Given the description of an element on the screen output the (x, y) to click on. 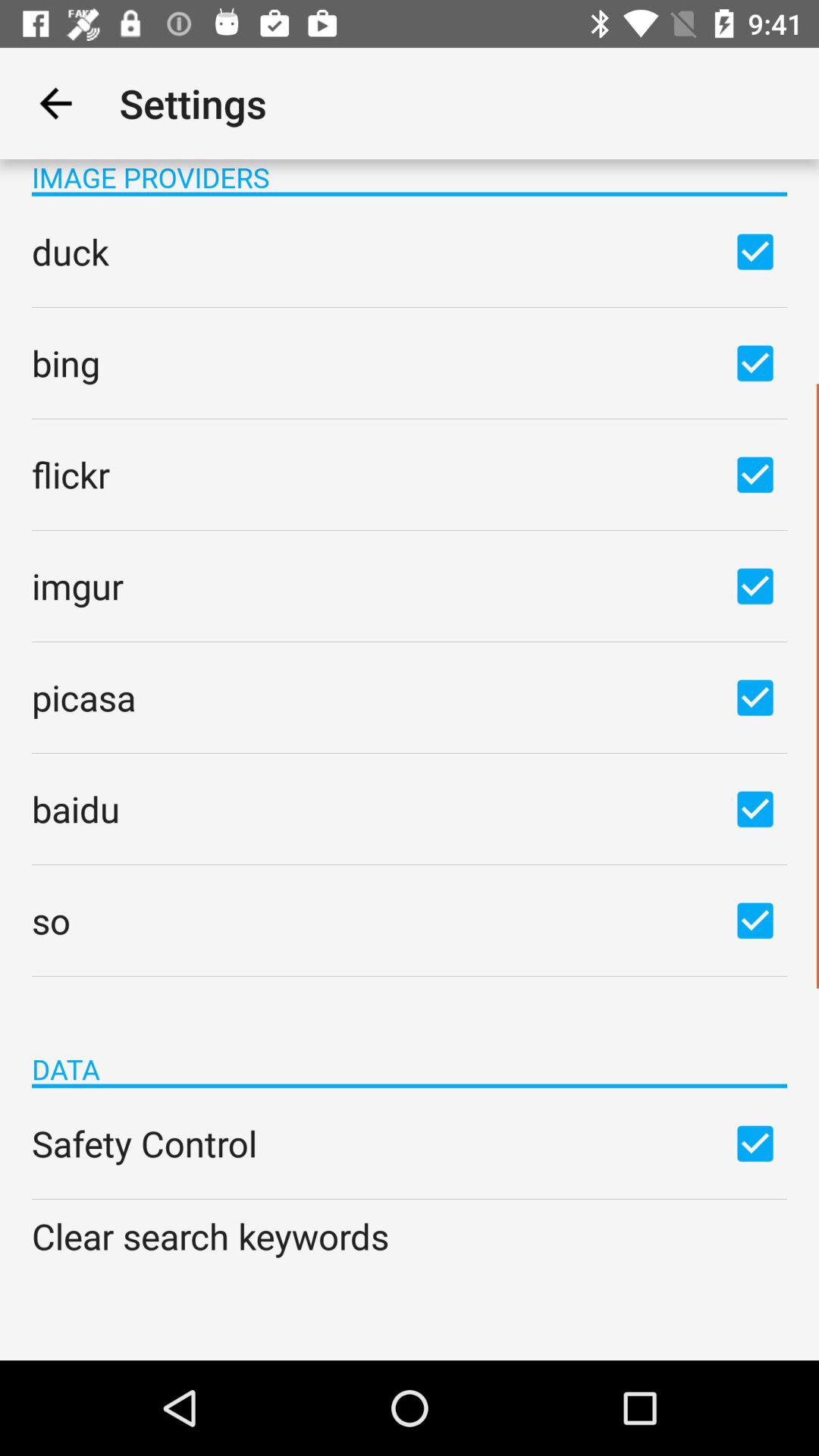
select icon to the left of settings app (55, 103)
